Given the description of an element on the screen output the (x, y) to click on. 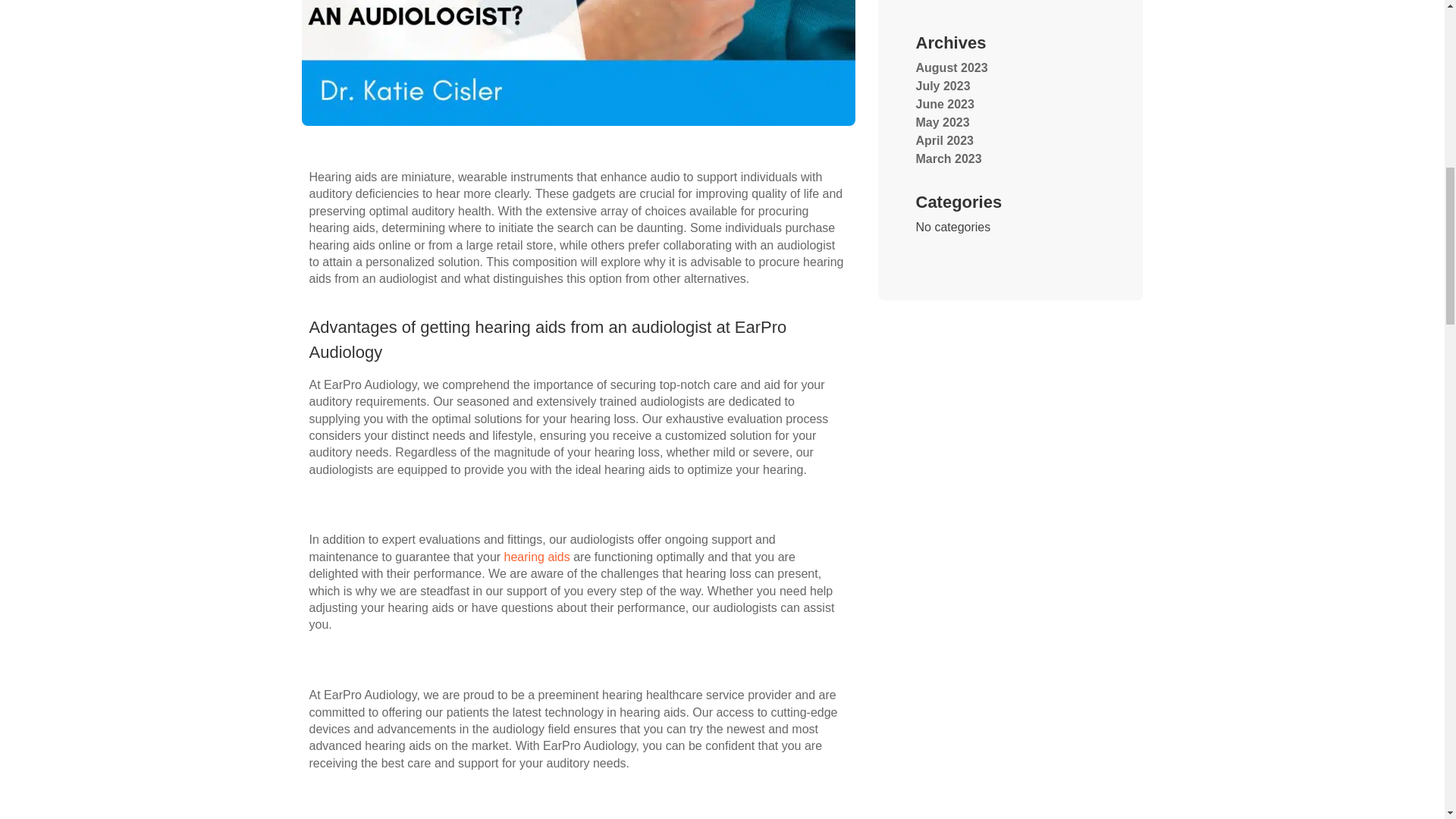
March 2023 (948, 158)
hearing aids (536, 556)
July 2023 (943, 85)
June 2023 (944, 103)
April 2023 (944, 140)
May 2023 (942, 122)
August 2023 (951, 67)
